Given the description of an element on the screen output the (x, y) to click on. 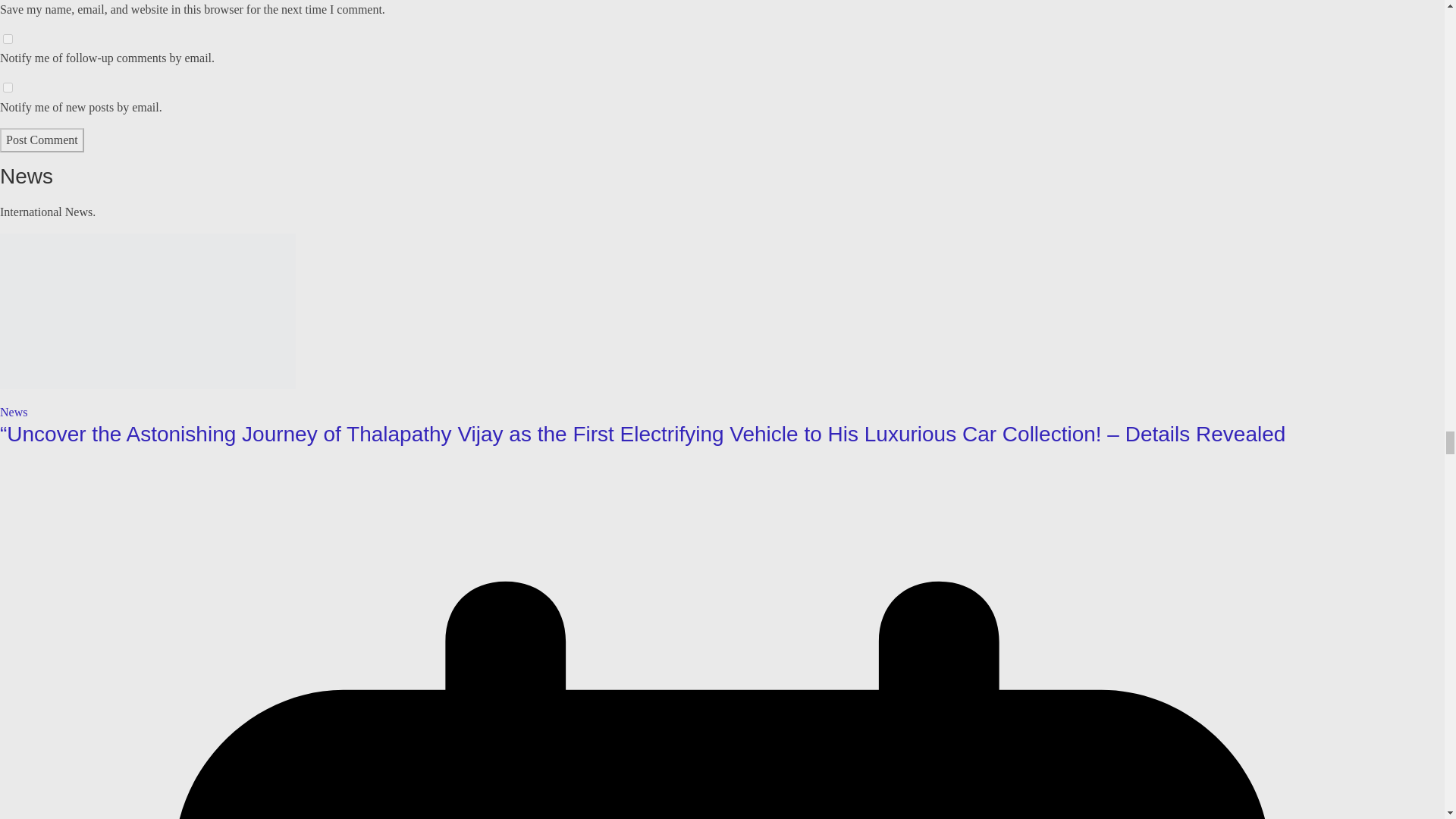
Post Comment (42, 139)
subscribe (7, 39)
subscribe (7, 87)
